Given the description of an element on the screen output the (x, y) to click on. 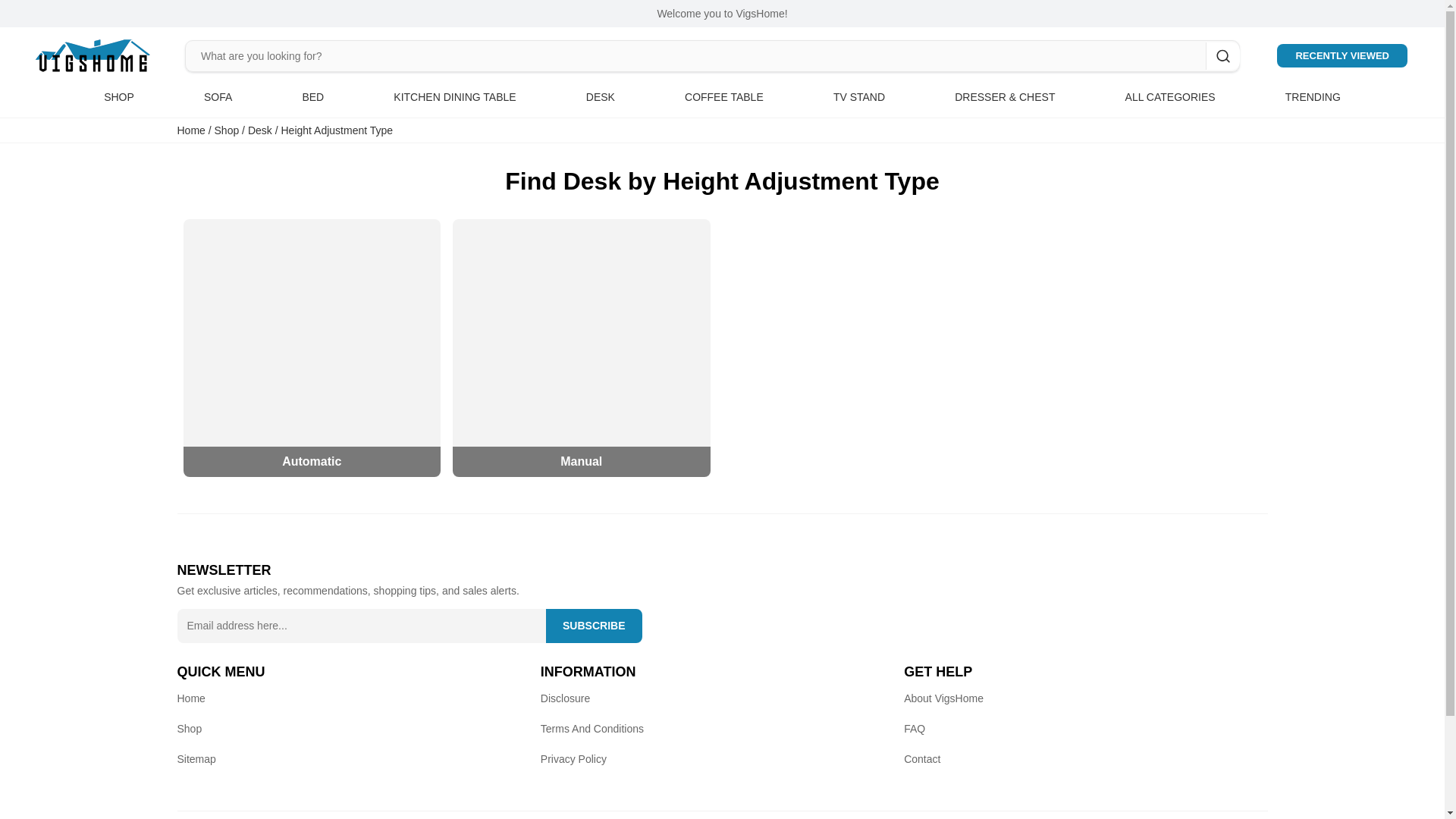
Privacy Policy (573, 758)
Height Adjustment Type (337, 130)
Disclosure (564, 697)
Terms And Conditions (591, 727)
TRENDING (1312, 96)
KITCHEN DINING TABLE (454, 96)
Automatic (312, 347)
COFFEE TABLE (723, 96)
Home (191, 697)
TV STAND (858, 96)
Manual (581, 347)
FAQ (914, 727)
SUBSCRIBE (594, 625)
Contact (922, 758)
Shop (189, 727)
